Given the description of an element on the screen output the (x, y) to click on. 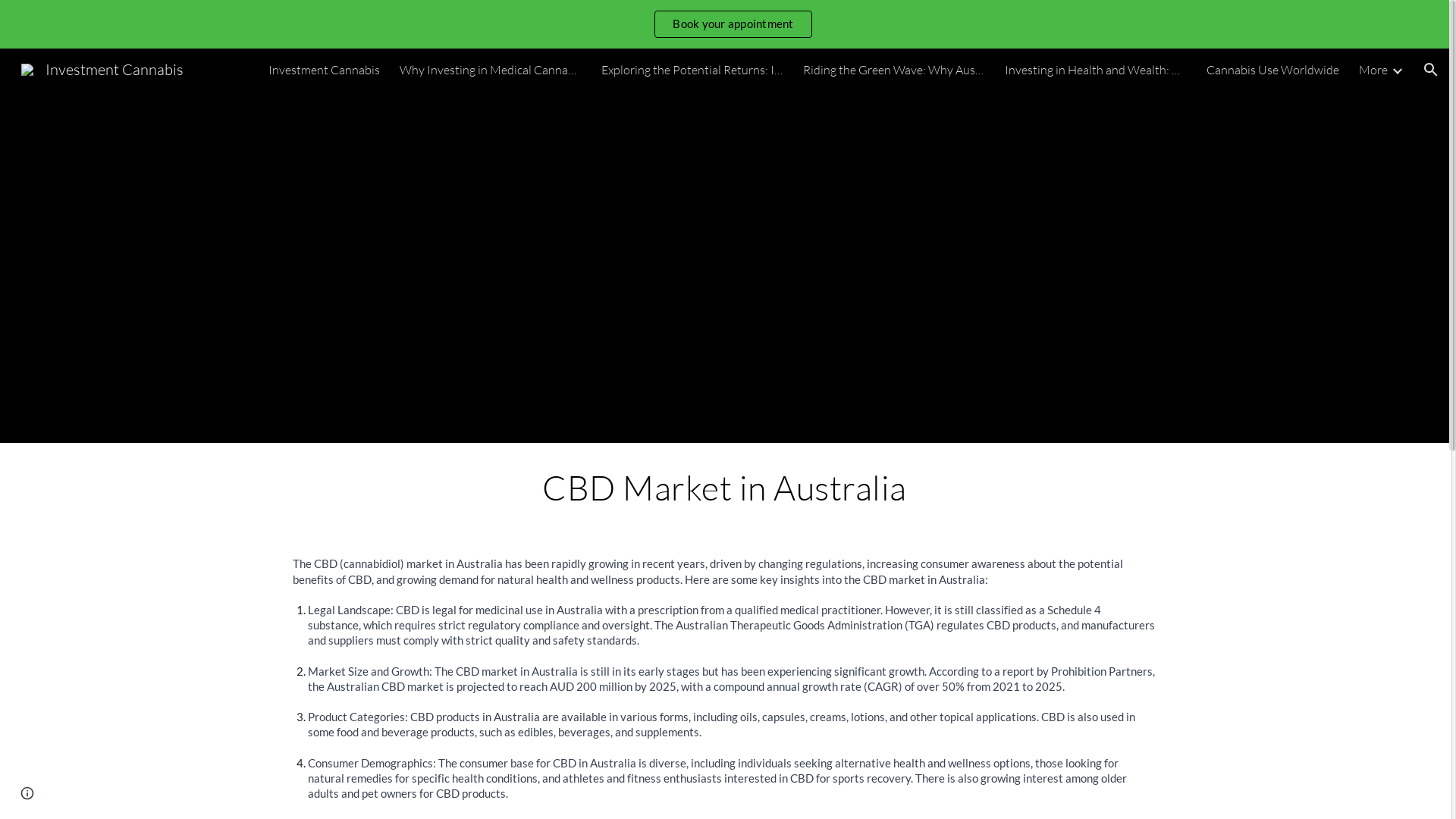
Investment Cannabis Element type: text (102, 67)
Cannabis Use Worldwide Element type: text (1272, 69)
Book your appointment Element type: text (732, 24)
Expand/Collapse Element type: hover (1396, 69)
Exploring the Potential Returns: Investing in MOCA Element type: text (692, 69)
More Element type: text (1372, 69)
Investment Cannabis Element type: text (323, 69)
